Given the description of an element on the screen output the (x, y) to click on. 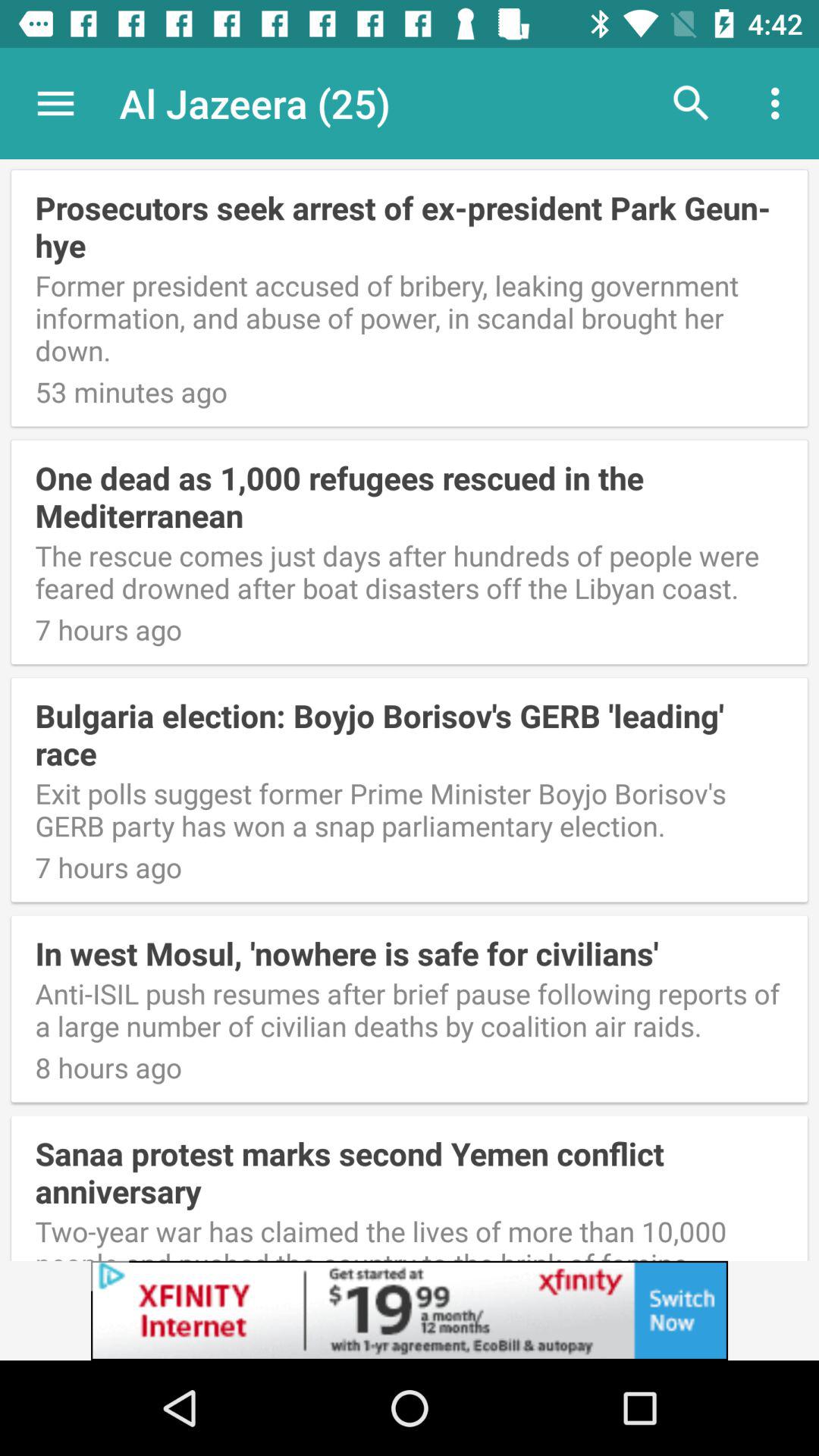
launch item above the prosecutors seek arrest (779, 103)
